Given the description of an element on the screen output the (x, y) to click on. 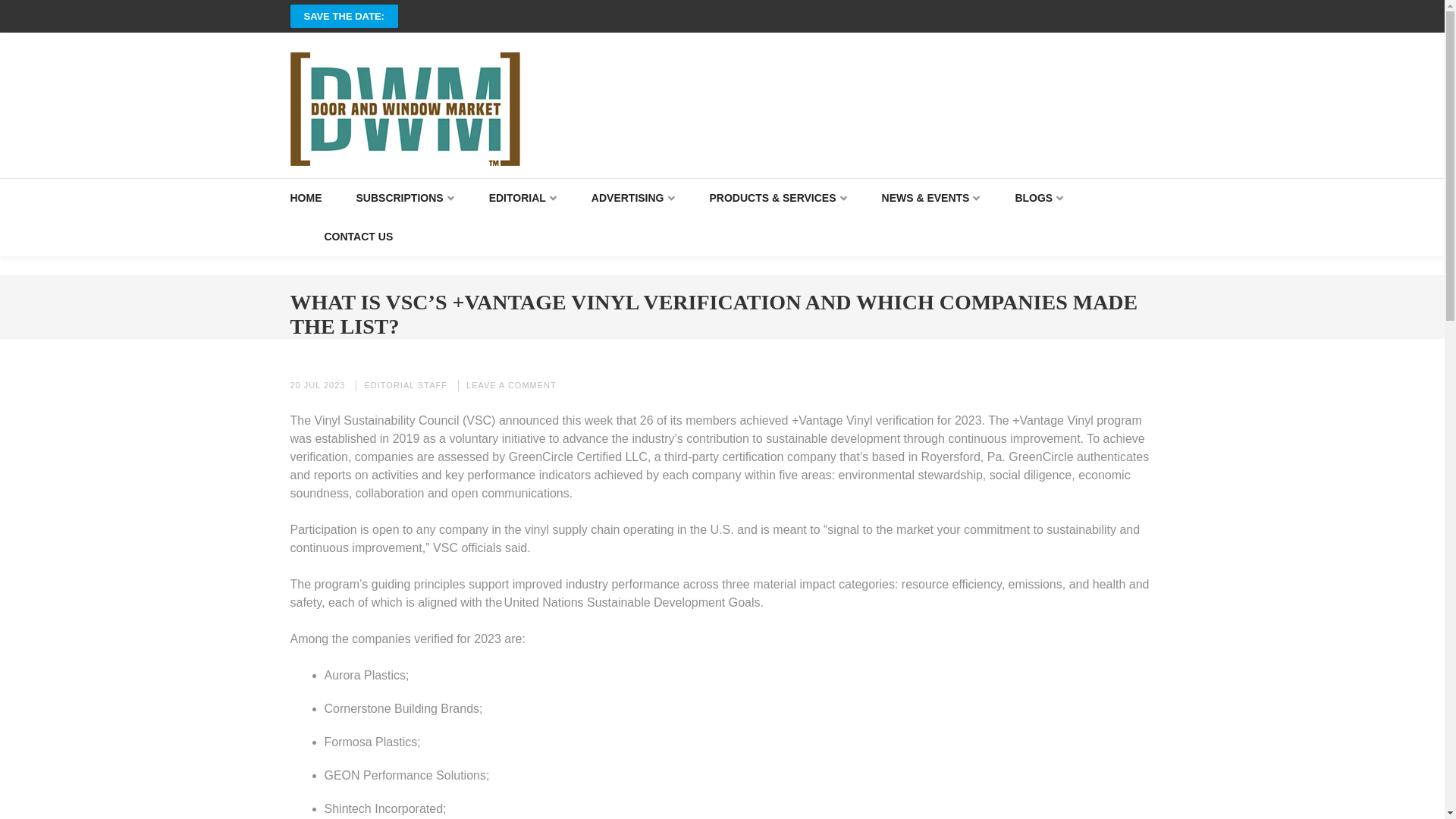
ADVERTISING (633, 198)
SAVE THE DATE: (343, 15)
EDITORIAL (523, 198)
SUBSCRIPTIONS (405, 198)
BLOGS (1039, 198)
DOOR AND WINDOW MARKET MAGAZINE (566, 180)
